Given the description of an element on the screen output the (x, y) to click on. 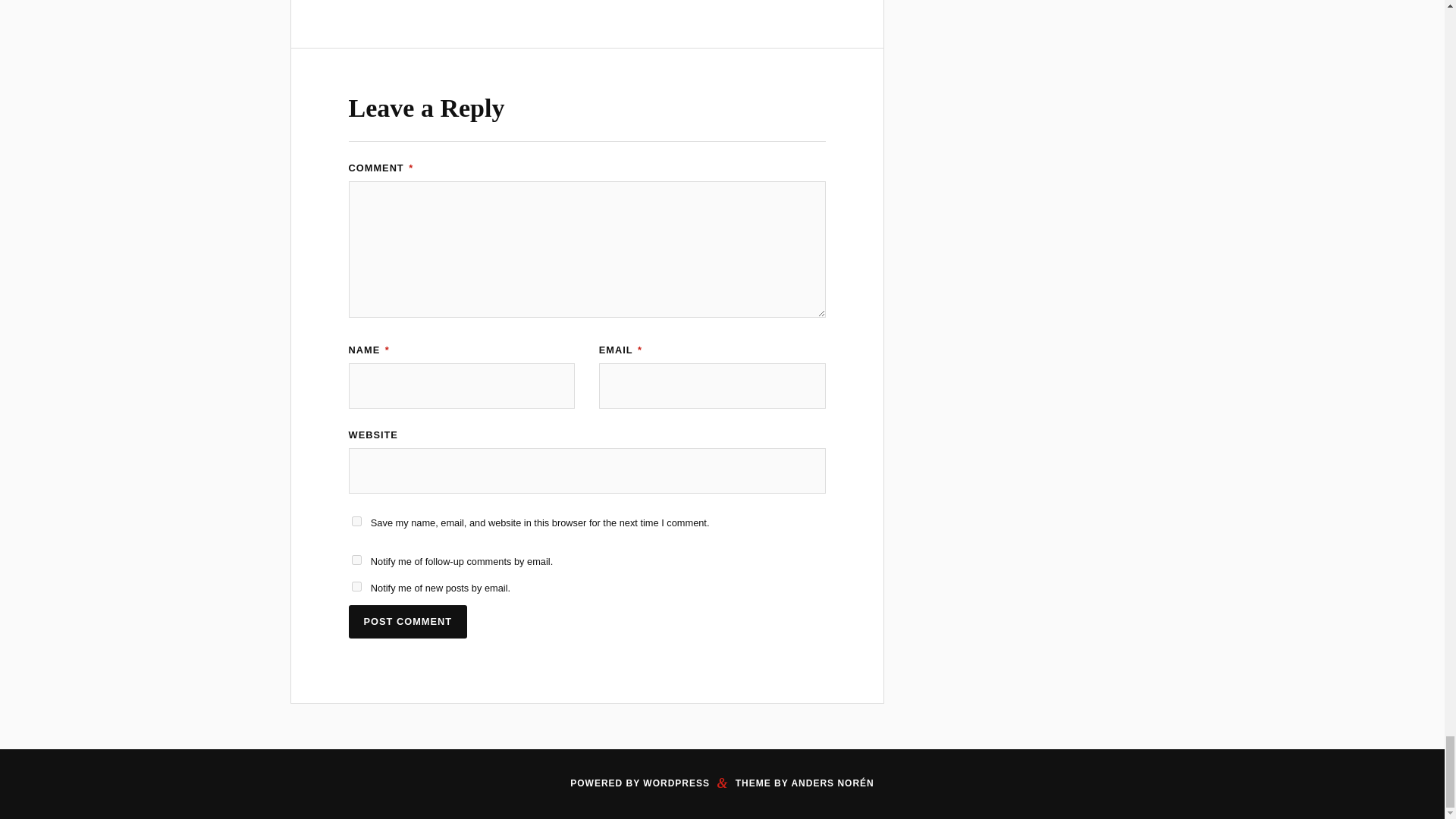
Post Comment (408, 622)
yes (356, 521)
subscribe (356, 560)
subscribe (356, 586)
